Given the description of an element on the screen output the (x, y) to click on. 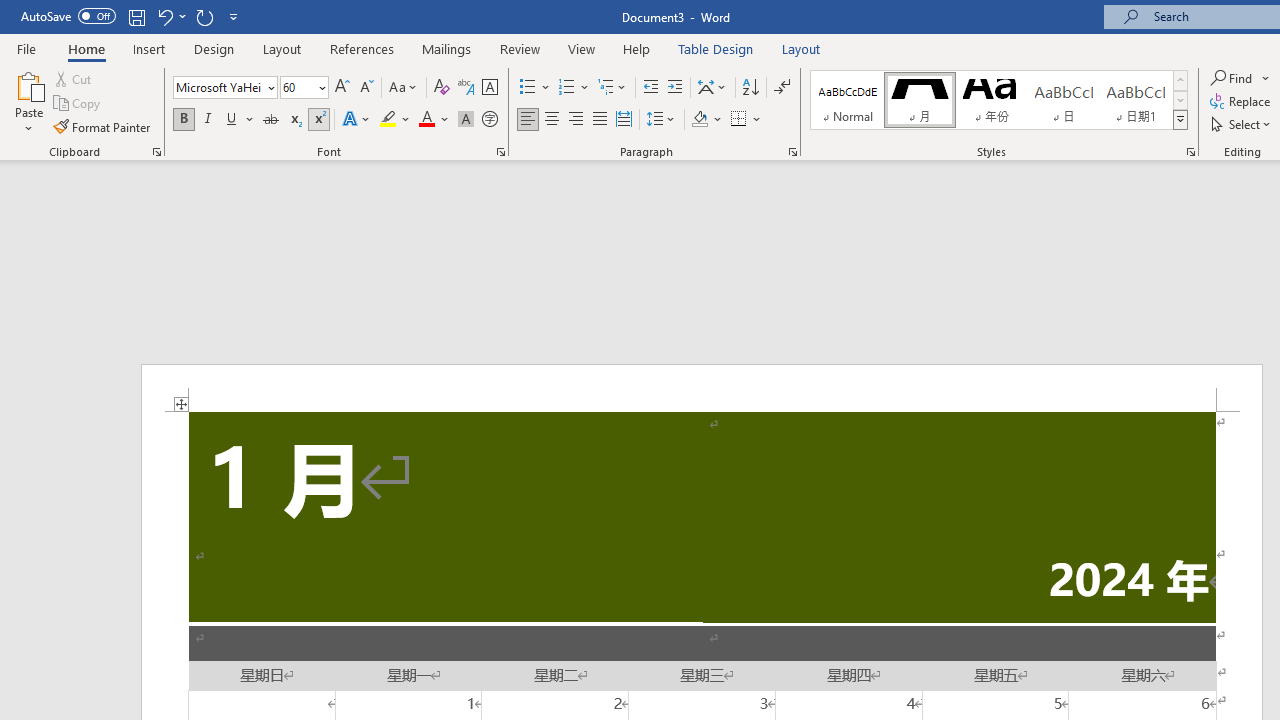
Styles (1179, 120)
View (582, 48)
Bullets (527, 87)
Find (1233, 78)
AutoSave (68, 16)
Font (224, 87)
Row Down (1179, 100)
Borders (746, 119)
Find (1240, 78)
Align Right (575, 119)
Clear Formatting (442, 87)
Paragraph... (792, 151)
Decrease Indent (650, 87)
